Given the description of an element on the screen output the (x, y) to click on. 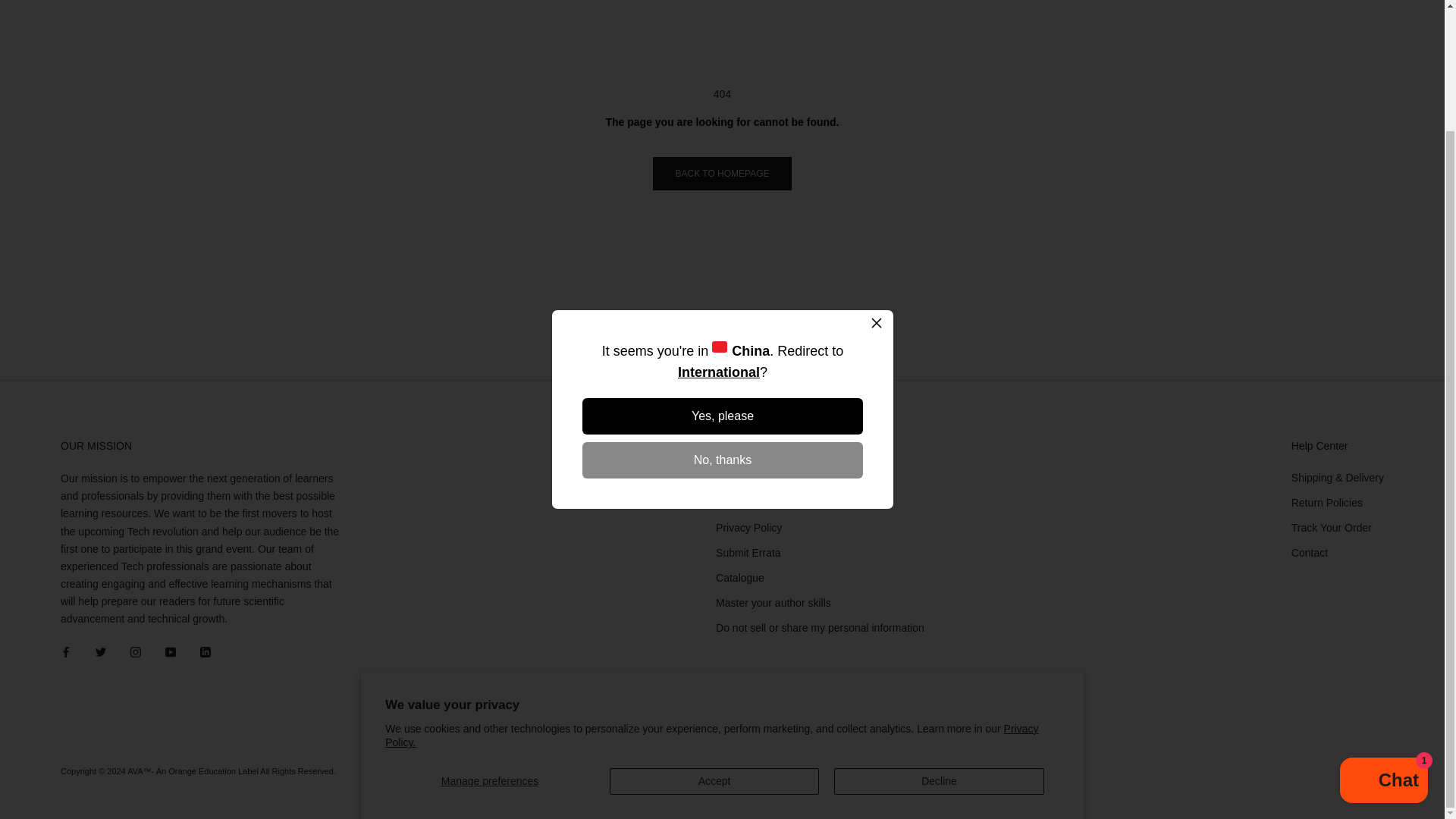
Accept (714, 636)
PayPal (1369, 768)
Privacy Policy. (711, 590)
Manage preferences (489, 636)
Decline (938, 636)
Shopify online store chat (1383, 636)
Yes, please (722, 271)
International (717, 227)
No, thanks (722, 315)
